Given the description of an element on the screen output the (x, y) to click on. 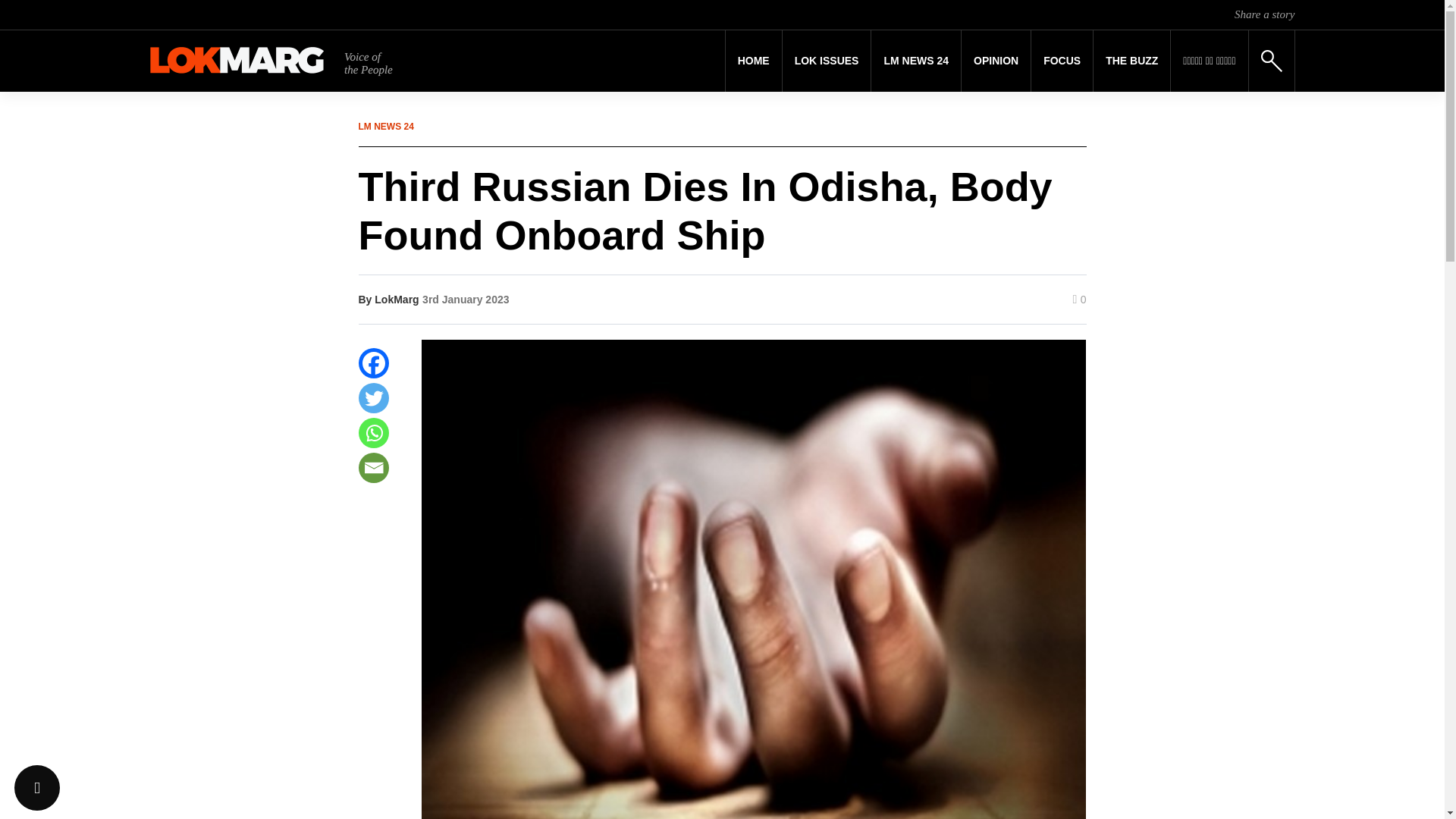
FOCUS (1061, 60)
Share a story (1264, 14)
OPINION (995, 60)
THE BUZZ (1131, 60)
LOK ISSUES (826, 60)
THE BUZZ (1131, 60)
Whatsapp (373, 432)
Focus (1061, 60)
Twitter (373, 398)
LokMarg (396, 299)
LM NEWS 24 (915, 60)
Lok Issues (826, 60)
Facebook (373, 363)
LM News 24 (915, 60)
HOME (753, 60)
